Given the description of an element on the screen output the (x, y) to click on. 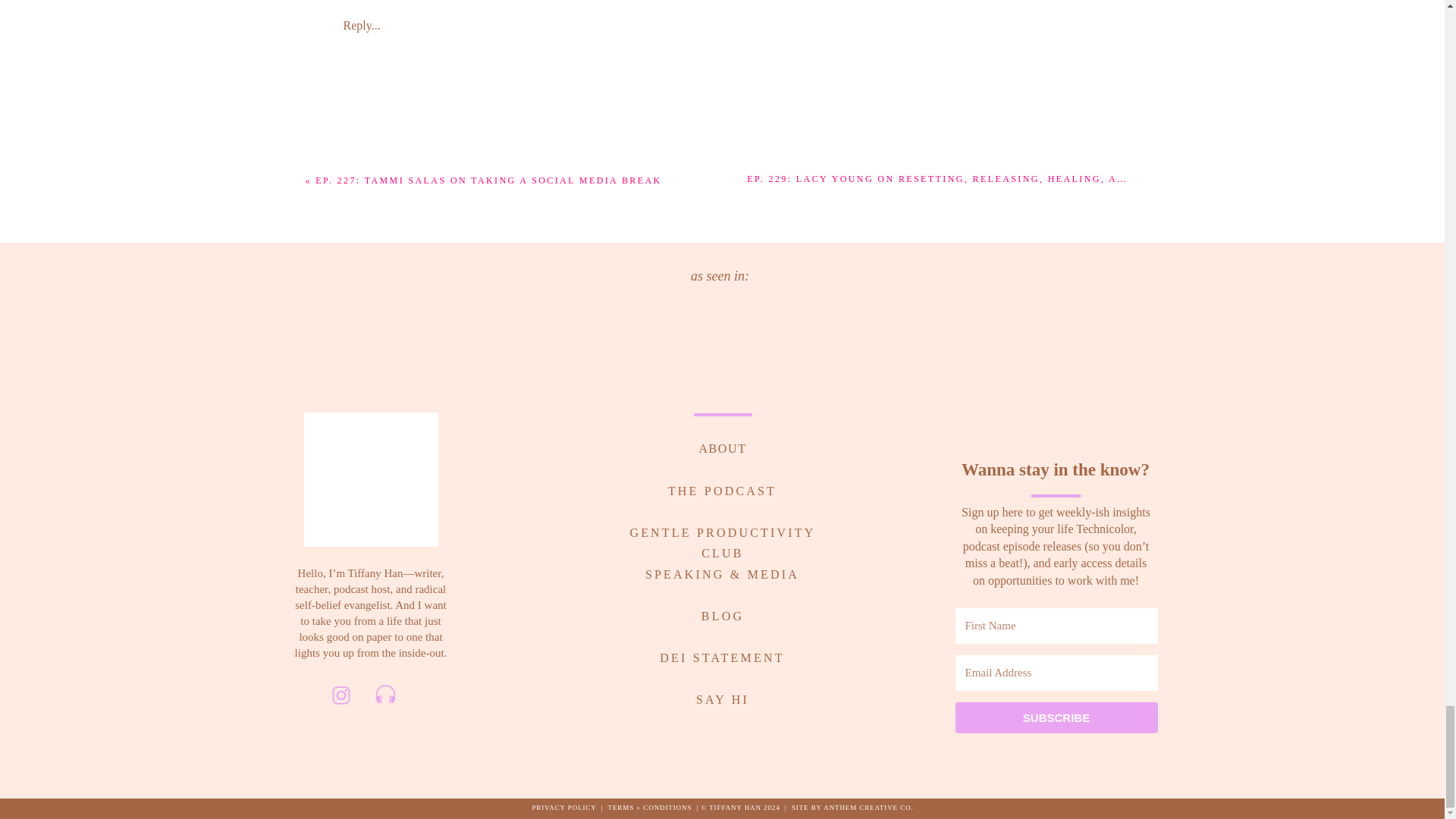
DEI STATEMENT (722, 654)
BLOG (722, 612)
GENTLE PRODUCTIVITY CLUB (721, 529)
THE PODCAST (722, 487)
SAY HI (722, 696)
EP. 227: TAMMI SALAS ON TAKING A SOCIAL MEDIA BREAK (488, 180)
SUBSCRIBE (1056, 717)
ABOUT (722, 445)
